Given the description of an element on the screen output the (x, y) to click on. 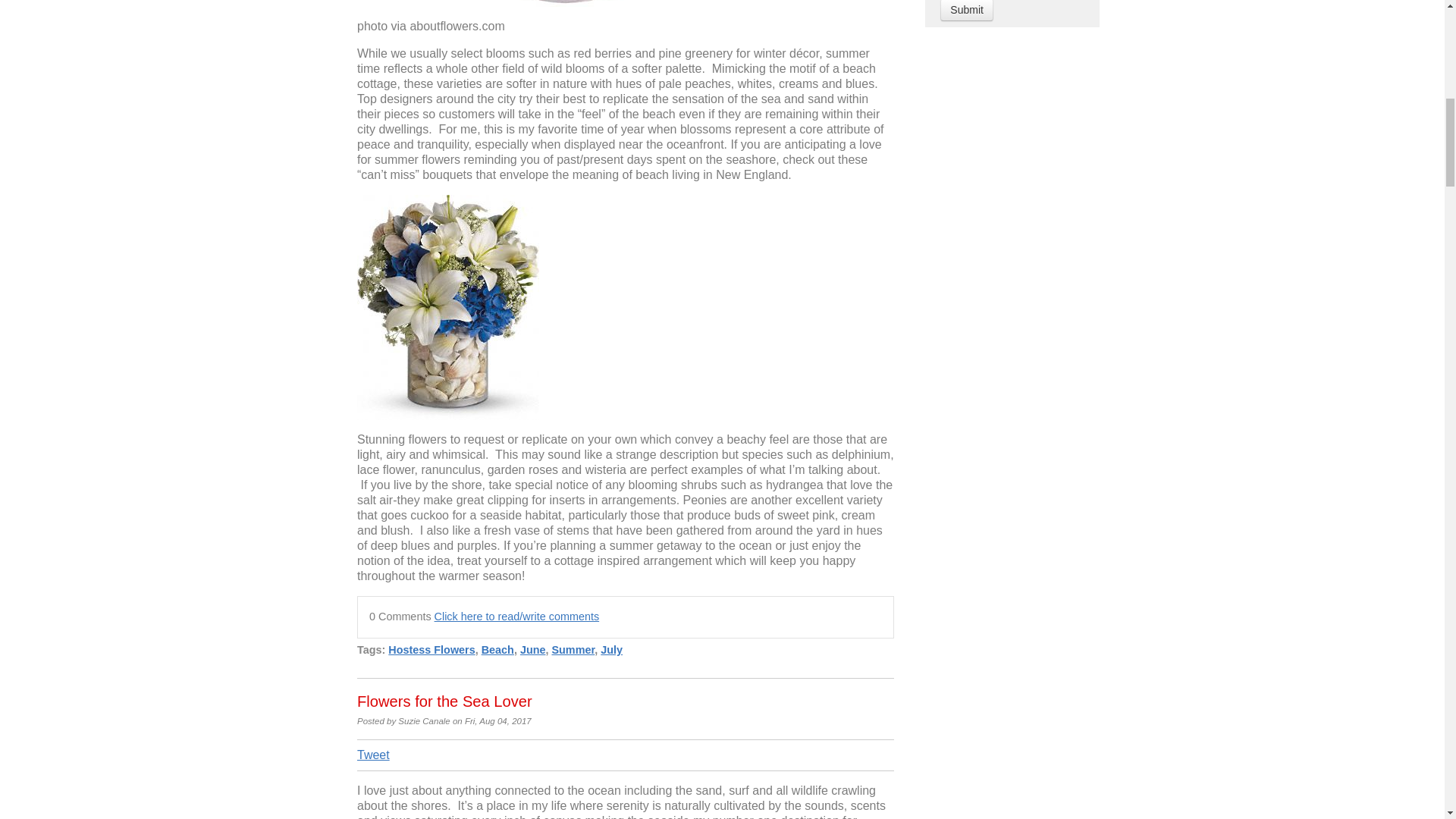
Beach (497, 649)
Summer (572, 649)
Tweet (373, 754)
Hostess Flowers (431, 649)
Flowers for the Sea Lover (444, 701)
July (611, 649)
June (532, 649)
Submit (966, 10)
